Given the description of an element on the screen output the (x, y) to click on. 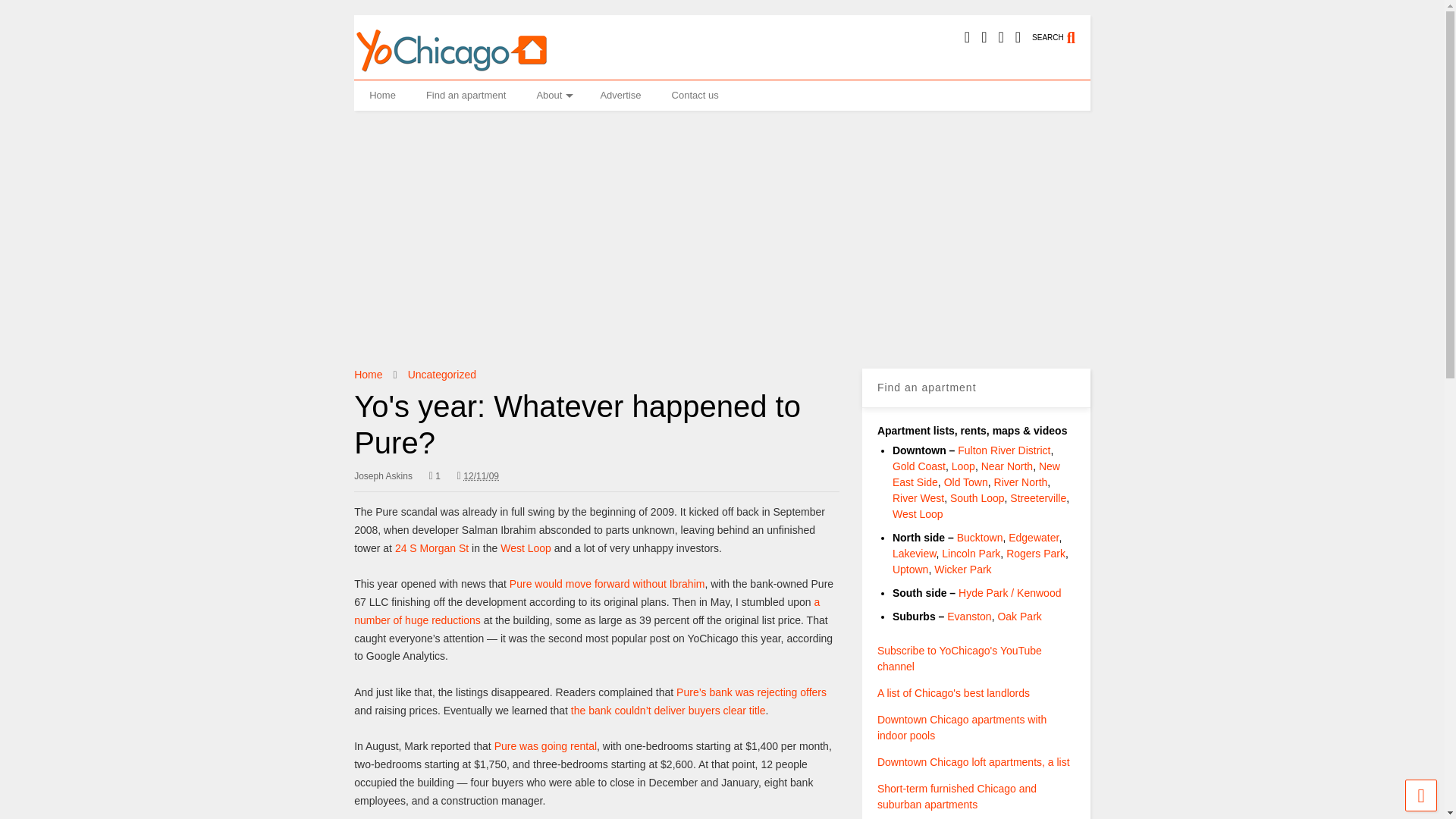
About (553, 95)
a number of huge reductions (586, 611)
Joseph Askins (382, 476)
Joseph Askins (382, 476)
Find an apartment (465, 95)
Advertise (620, 95)
Contact us (694, 95)
Home (367, 374)
2009-12-11T14:34:35-06:00 (478, 476)
SEARCH (1061, 30)
24 S Morgan St (431, 548)
Pure would move forward without Ibrahim (606, 583)
West Loop (525, 548)
Home (381, 95)
